Given the description of an element on the screen output the (x, y) to click on. 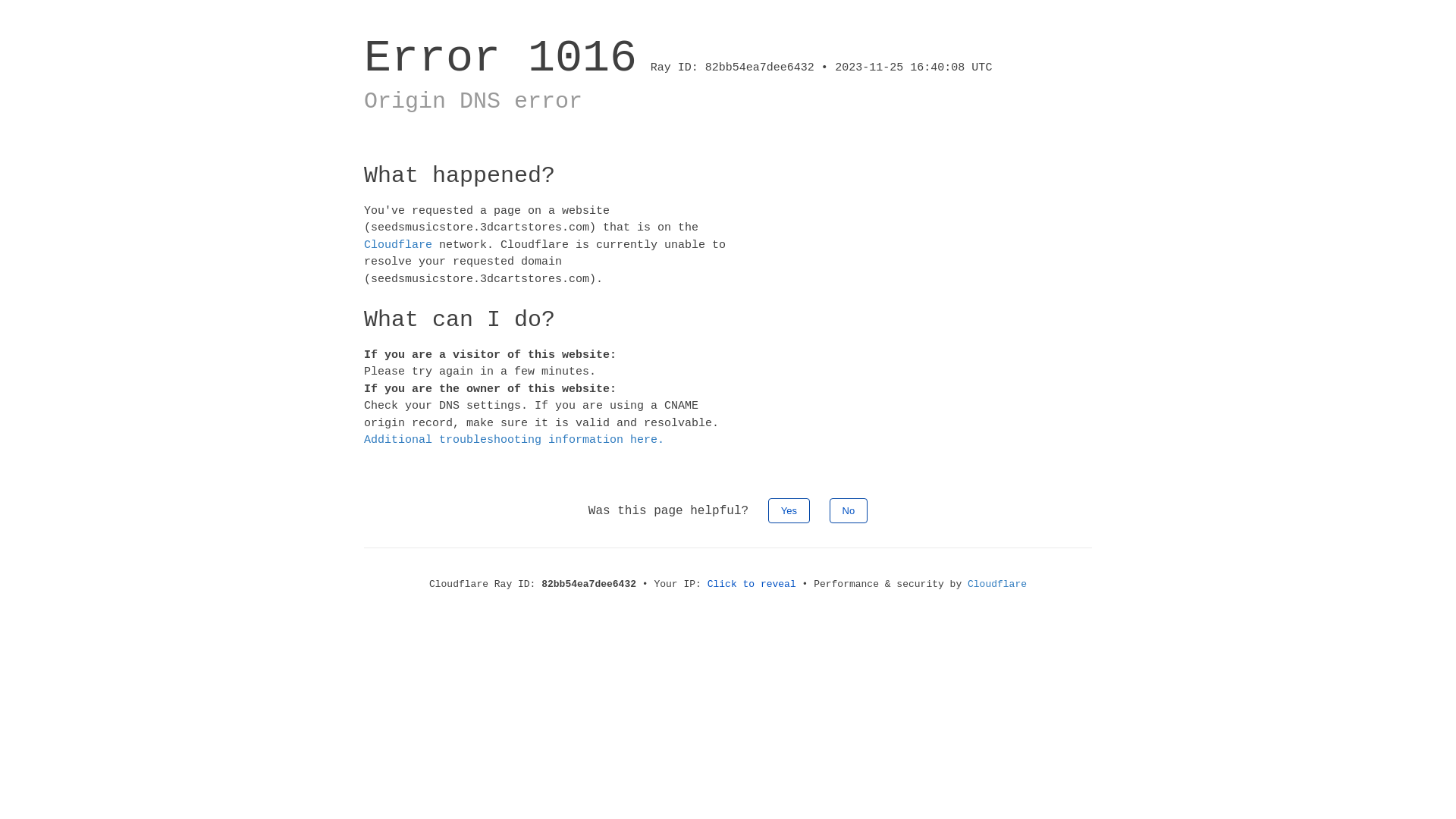
Yes Element type: text (788, 509)
No Element type: text (848, 509)
Cloudflare Element type: text (398, 244)
Cloudflare Element type: text (996, 583)
Additional troubleshooting information here. Element type: text (514, 439)
Click to reveal Element type: text (751, 583)
